Given the description of an element on the screen output the (x, y) to click on. 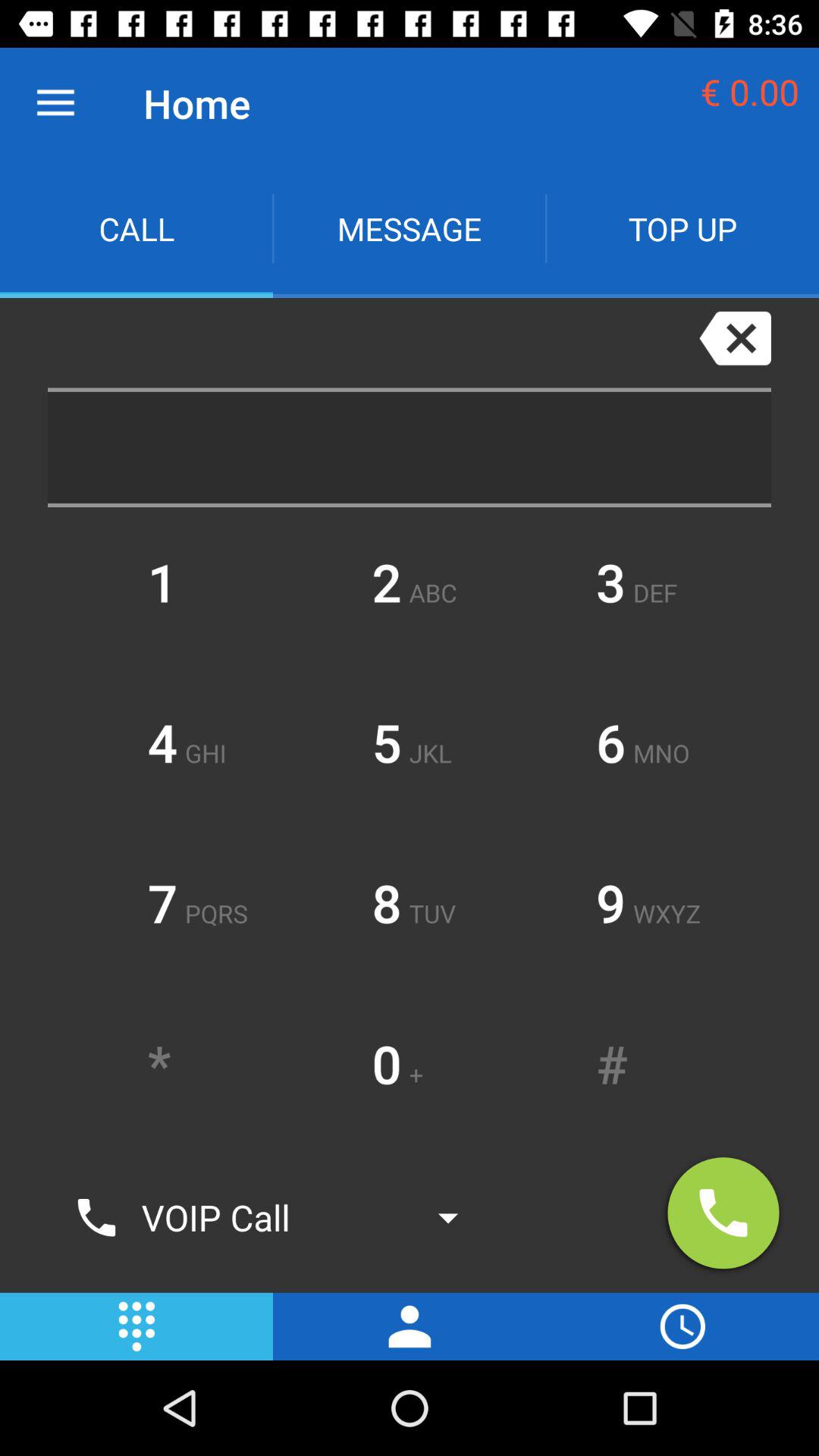
turn on the app below call (361, 342)
